Given the description of an element on the screen output the (x, y) to click on. 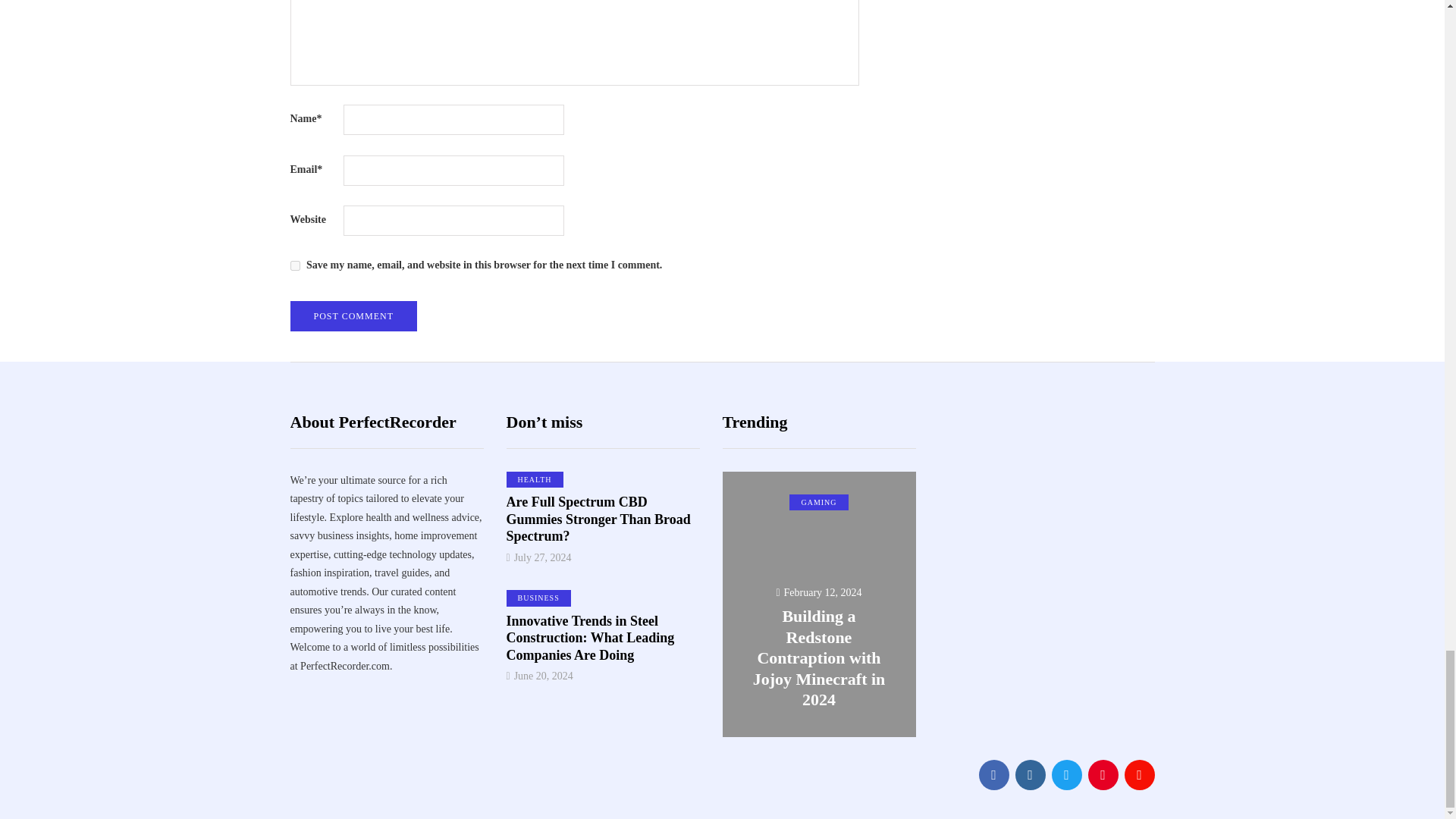
Post comment (352, 316)
yes (294, 266)
